Given the description of an element on the screen output the (x, y) to click on. 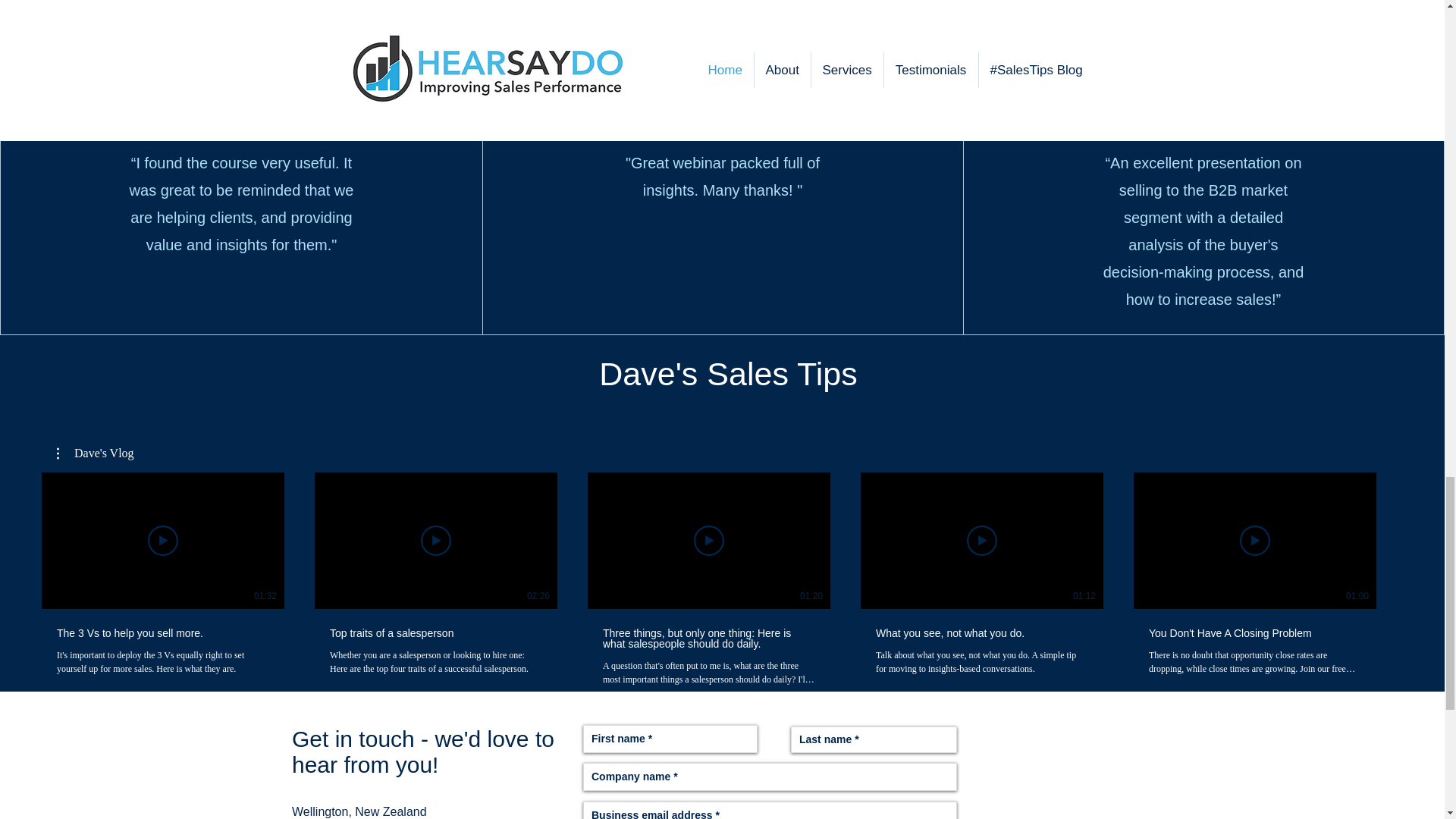
What you see, not what you do. (981, 633)
You Don't Have A Closing Problem (1254, 633)
Top traits of a salesperson (435, 633)
The 3 Vs to help you sell more. (162, 633)
